Given the description of an element on the screen output the (x, y) to click on. 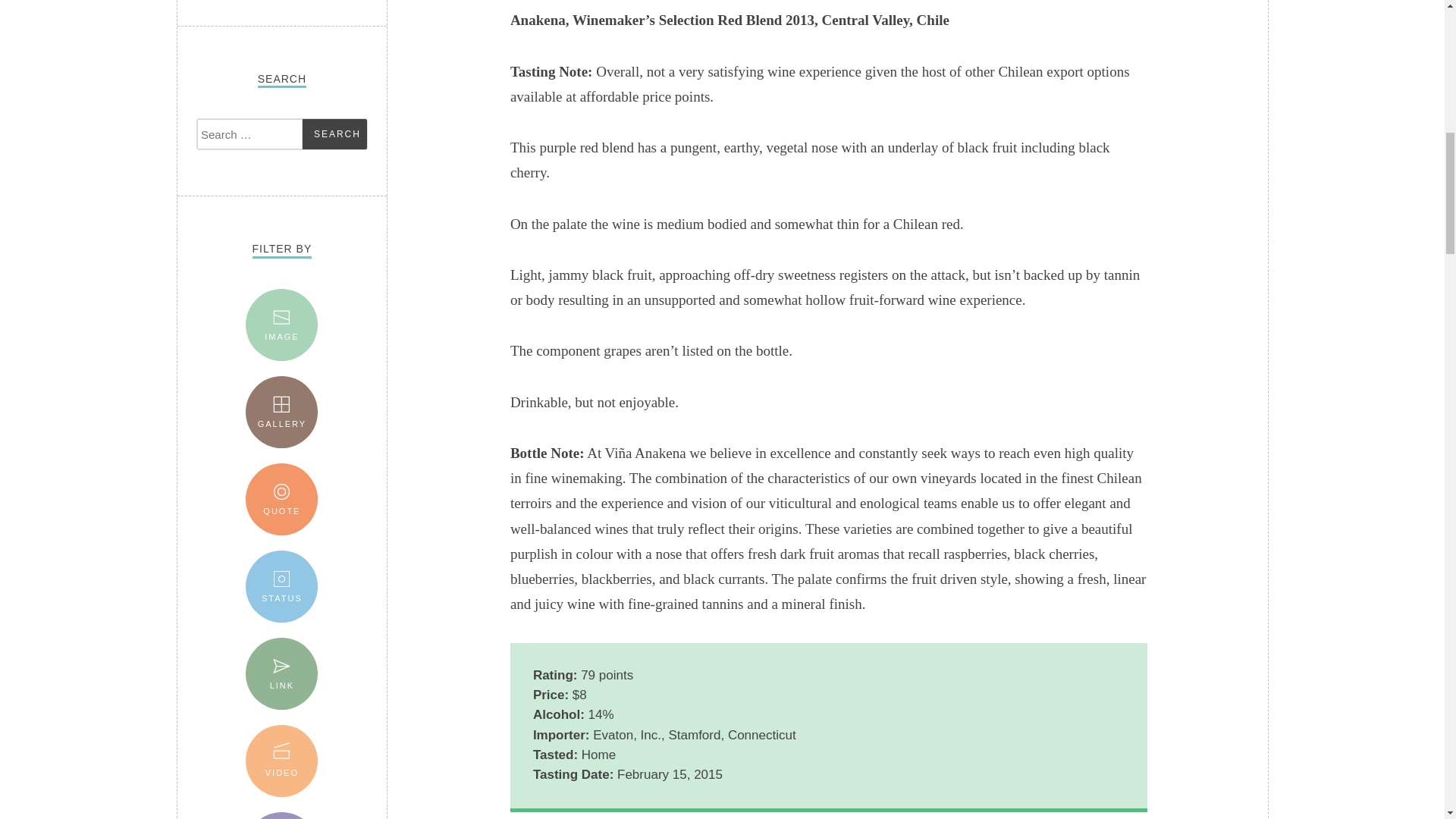
LINK (281, 673)
GALLERY (281, 411)
Search (334, 133)
VIDEO (281, 760)
AUDIO (281, 815)
QUOTE (281, 498)
Search (334, 133)
IMAGE (281, 324)
STATUS (281, 586)
